Given the description of an element on the screen output the (x, y) to click on. 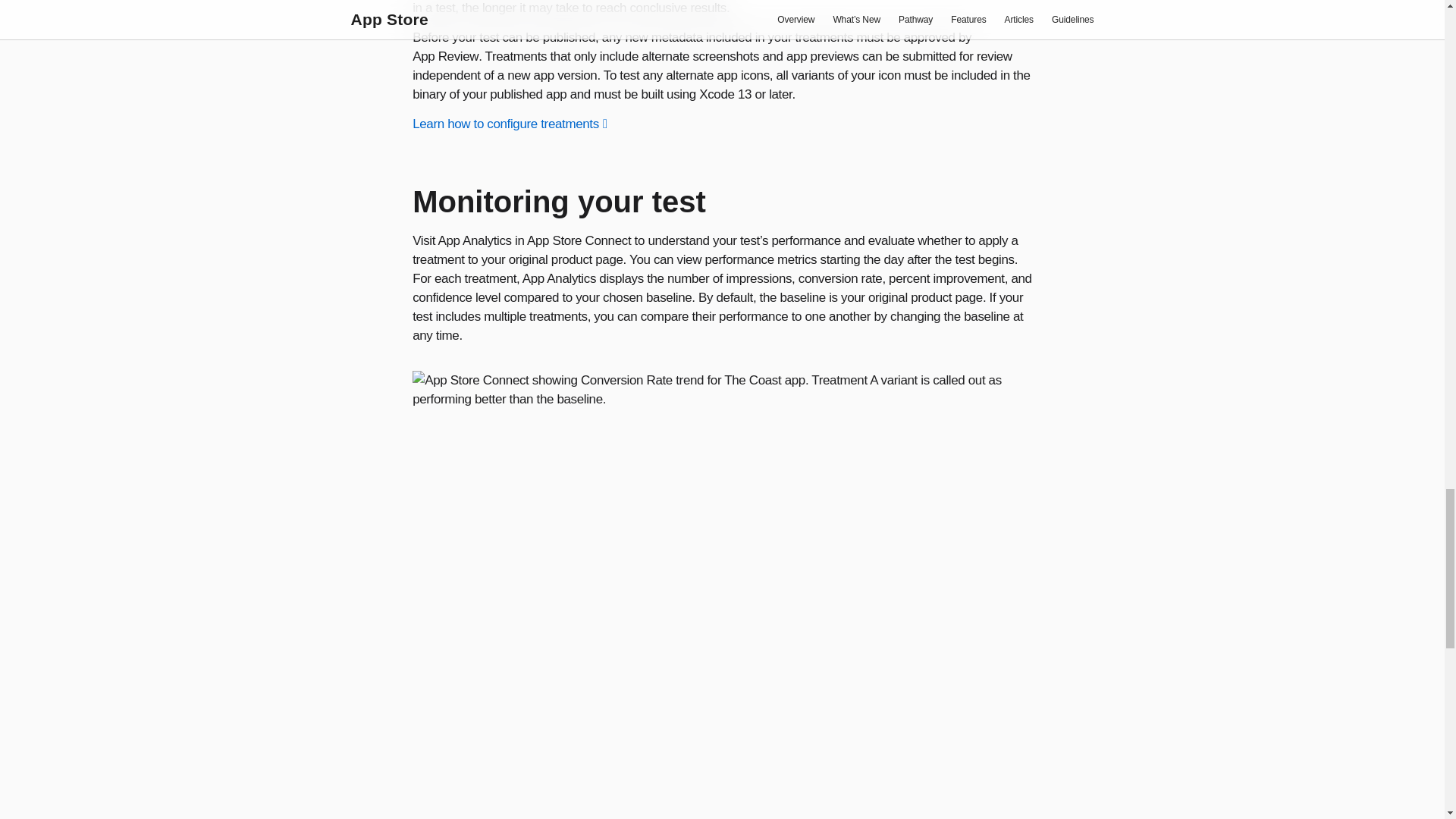
Learn how to configure treatments (509, 124)
